Given the description of an element on the screen output the (x, y) to click on. 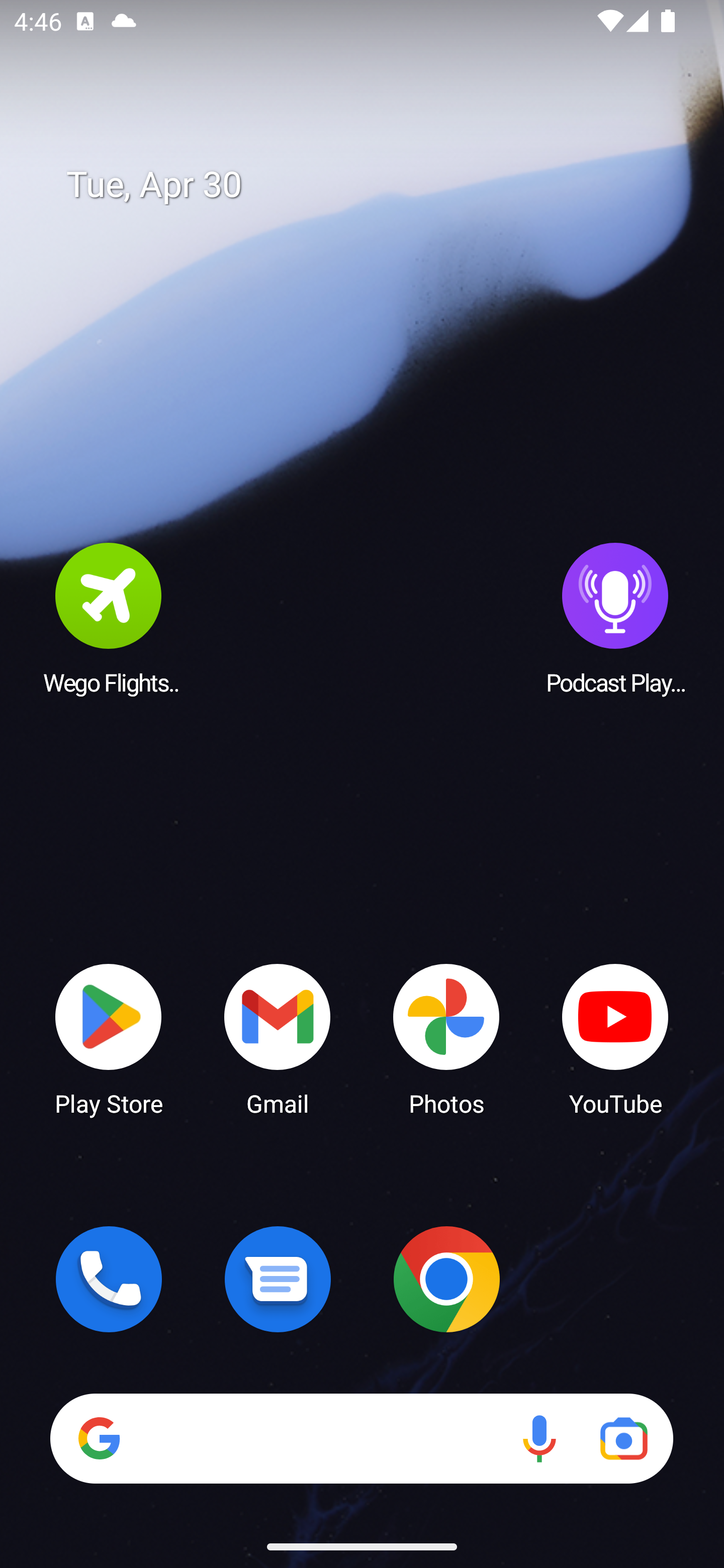
Tue, Apr 30 (375, 184)
Wego Flights & Hotels (108, 617)
Podcast Player (615, 617)
Play Store (108, 1038)
Gmail (277, 1038)
Photos (445, 1038)
YouTube (615, 1038)
Phone (108, 1279)
Messages (277, 1279)
Chrome (446, 1279)
Voice search (539, 1438)
Google Lens (623, 1438)
